Given the description of an element on the screen output the (x, y) to click on. 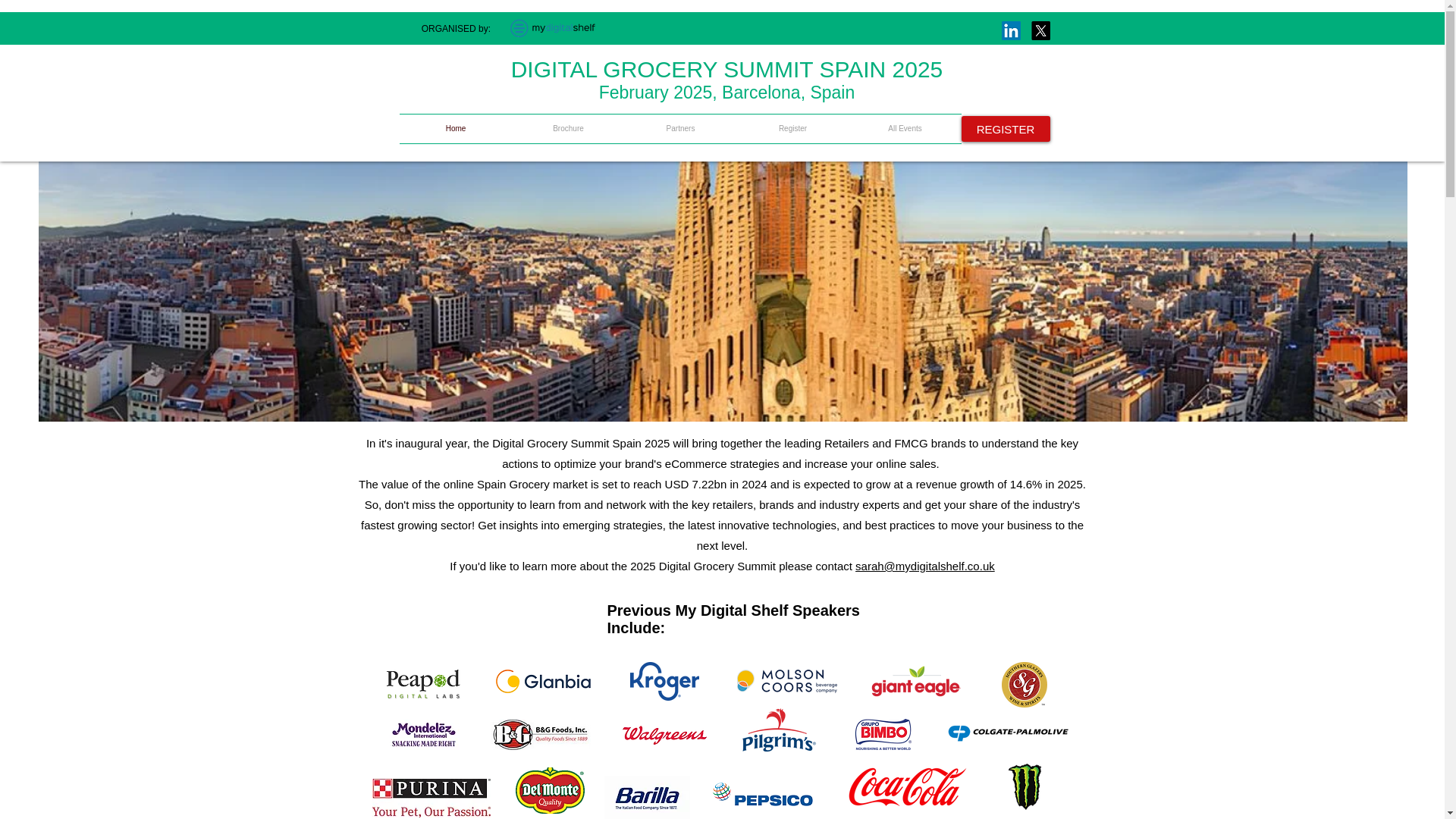
Register (792, 128)
Partners (680, 128)
REGISTER (1004, 128)
Brochure (568, 128)
Home (455, 128)
All Events (904, 128)
